Given the description of an element on the screen output the (x, y) to click on. 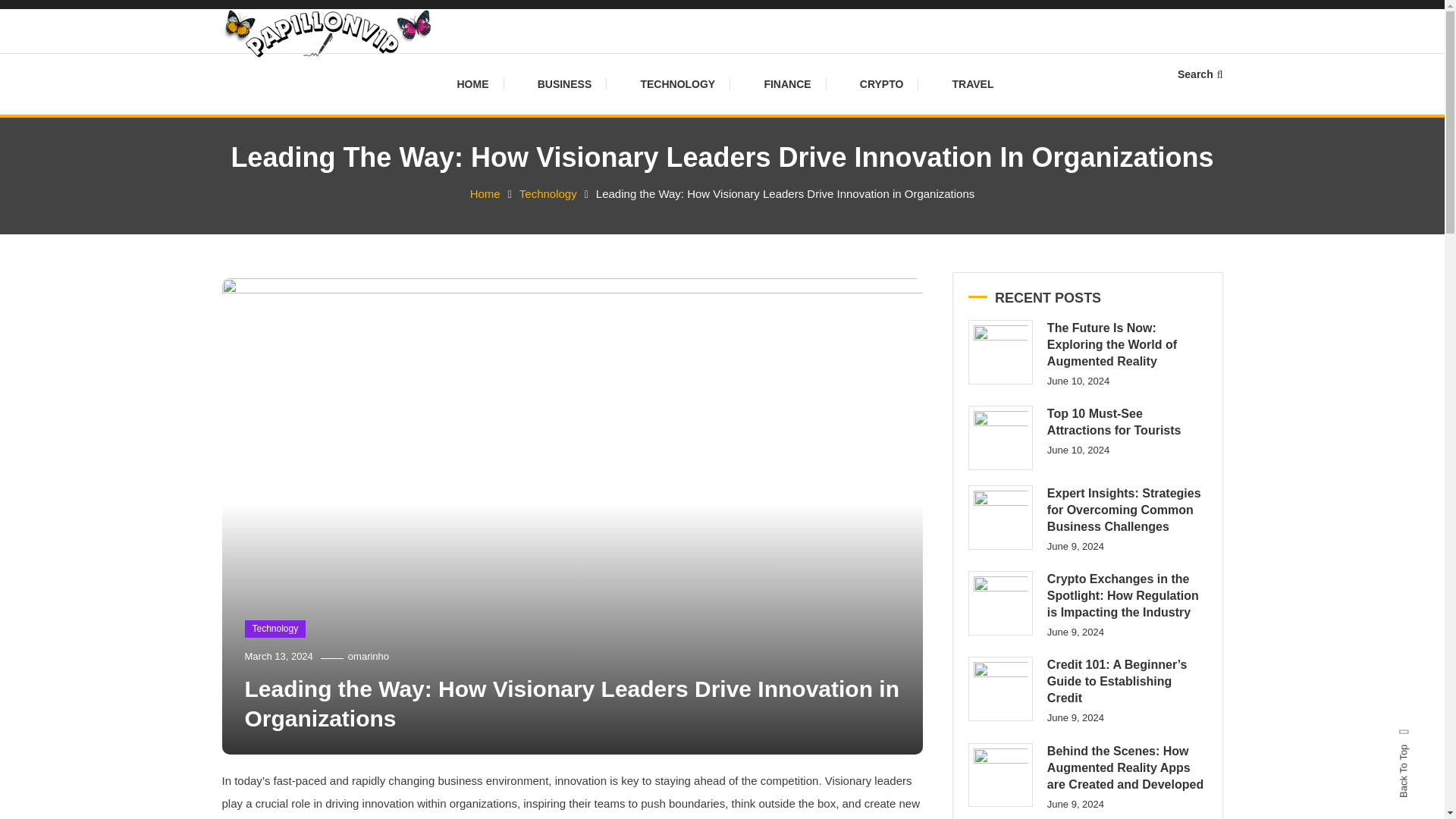
Search (768, 432)
TECHNOLOGY (677, 84)
Search (1200, 73)
Technology (547, 193)
The Future Is Now: Exploring the World of Augmented Reality (1000, 352)
CRYPTO (881, 84)
BUSINESS (564, 84)
FINANCE (786, 84)
